Given the description of an element on the screen output the (x, y) to click on. 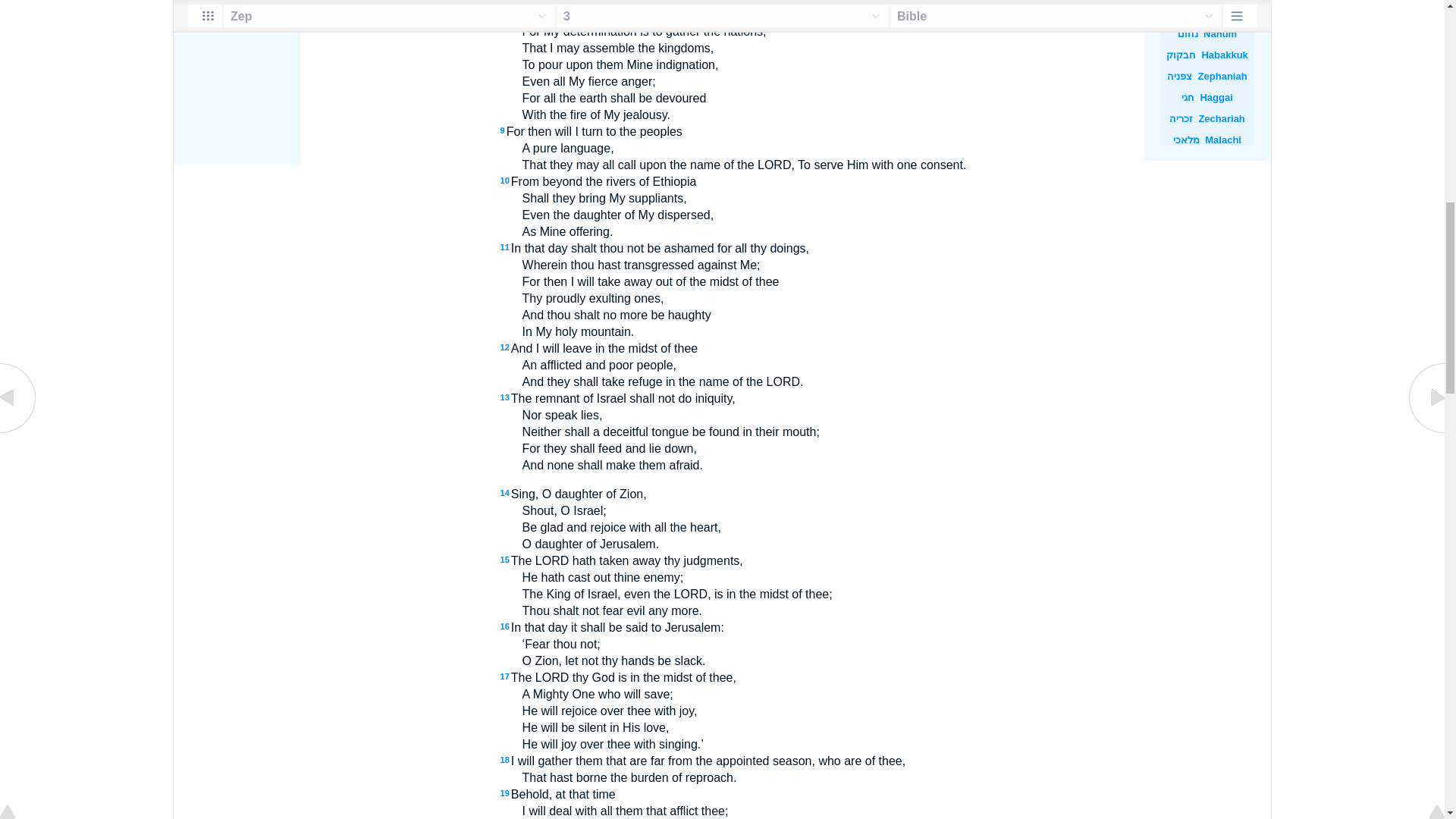
16 (504, 625)
17 (504, 675)
11 (504, 246)
15 (504, 559)
10 (504, 180)
18 (504, 759)
19 (504, 792)
Top of Page (18, 1)
12 (504, 347)
14 (504, 492)
13 (504, 397)
